Given the description of an element on the screen output the (x, y) to click on. 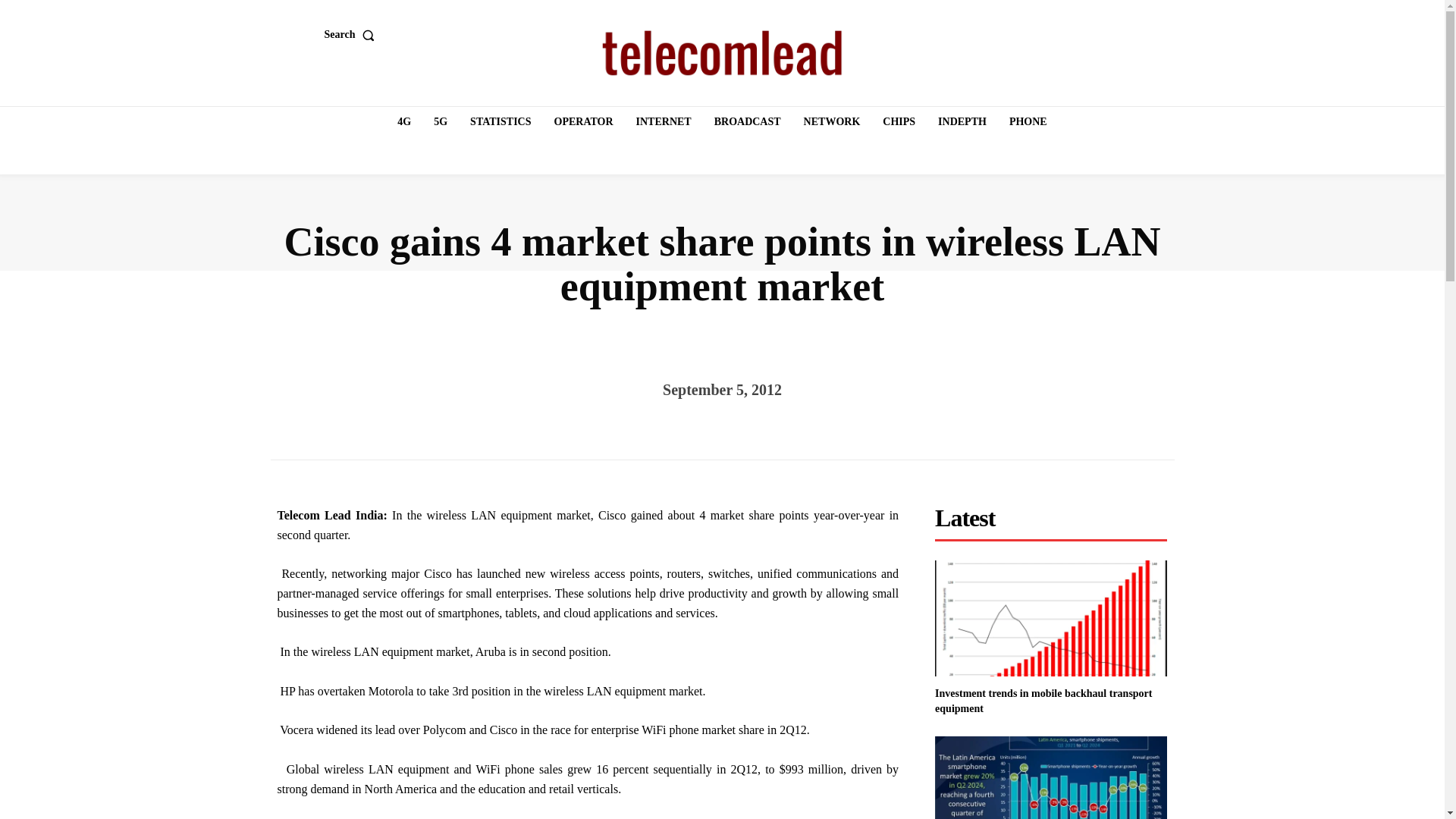
OPERATOR (584, 122)
INTERNET (663, 122)
INDEPTH (962, 122)
Investment trends in mobile backhaul transport equipment (1042, 700)
5G (440, 122)
NETWORK (831, 122)
Investment trends in mobile backhaul transport equipment (1050, 618)
Investment trends in mobile backhaul transport equipment (1042, 700)
BROADCAST (747, 122)
CHIPS (899, 122)
